Given the description of an element on the screen output the (x, y) to click on. 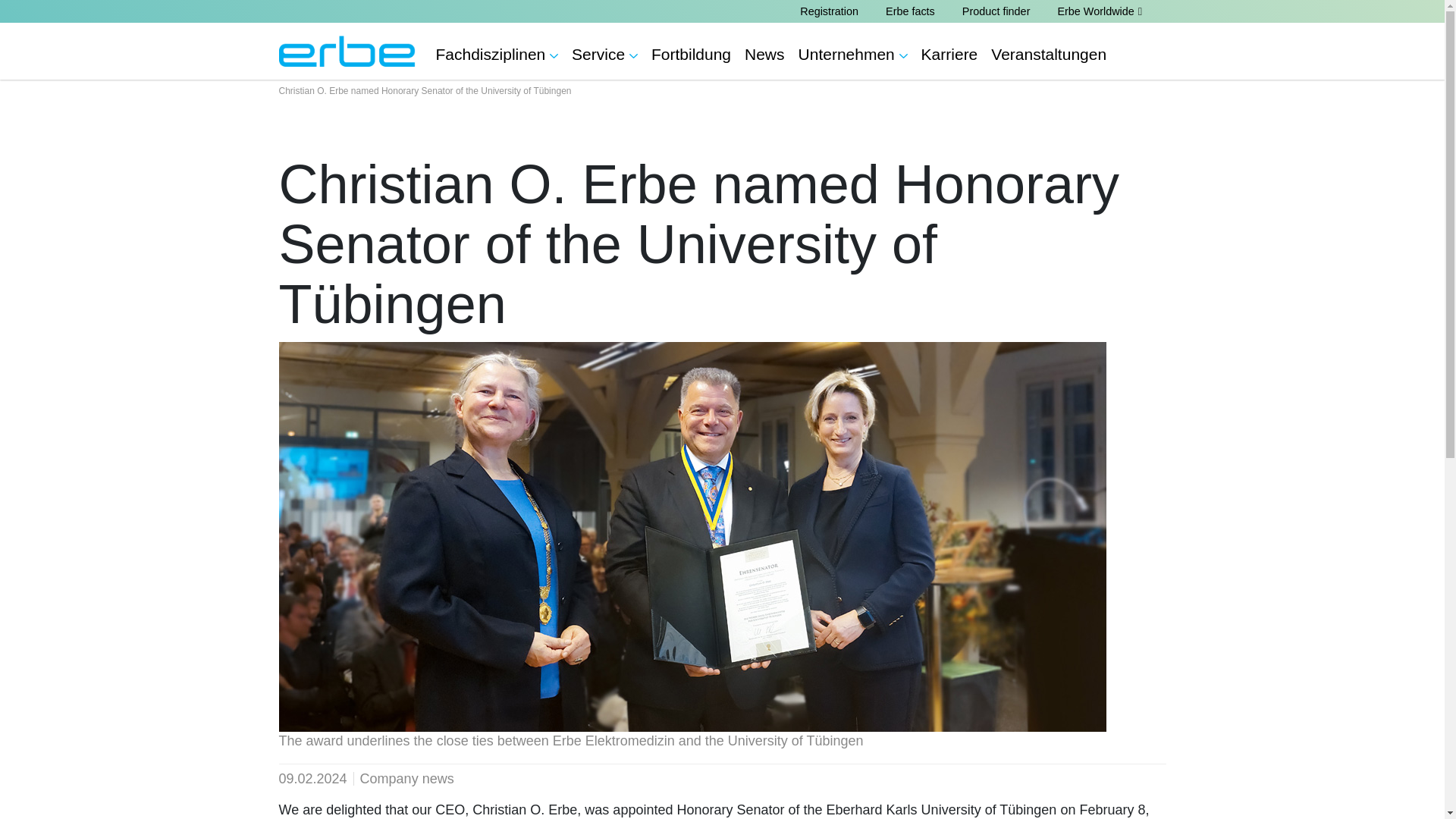
Erbe Elektromedizin GmbH (346, 51)
